Given the description of an element on the screen output the (x, y) to click on. 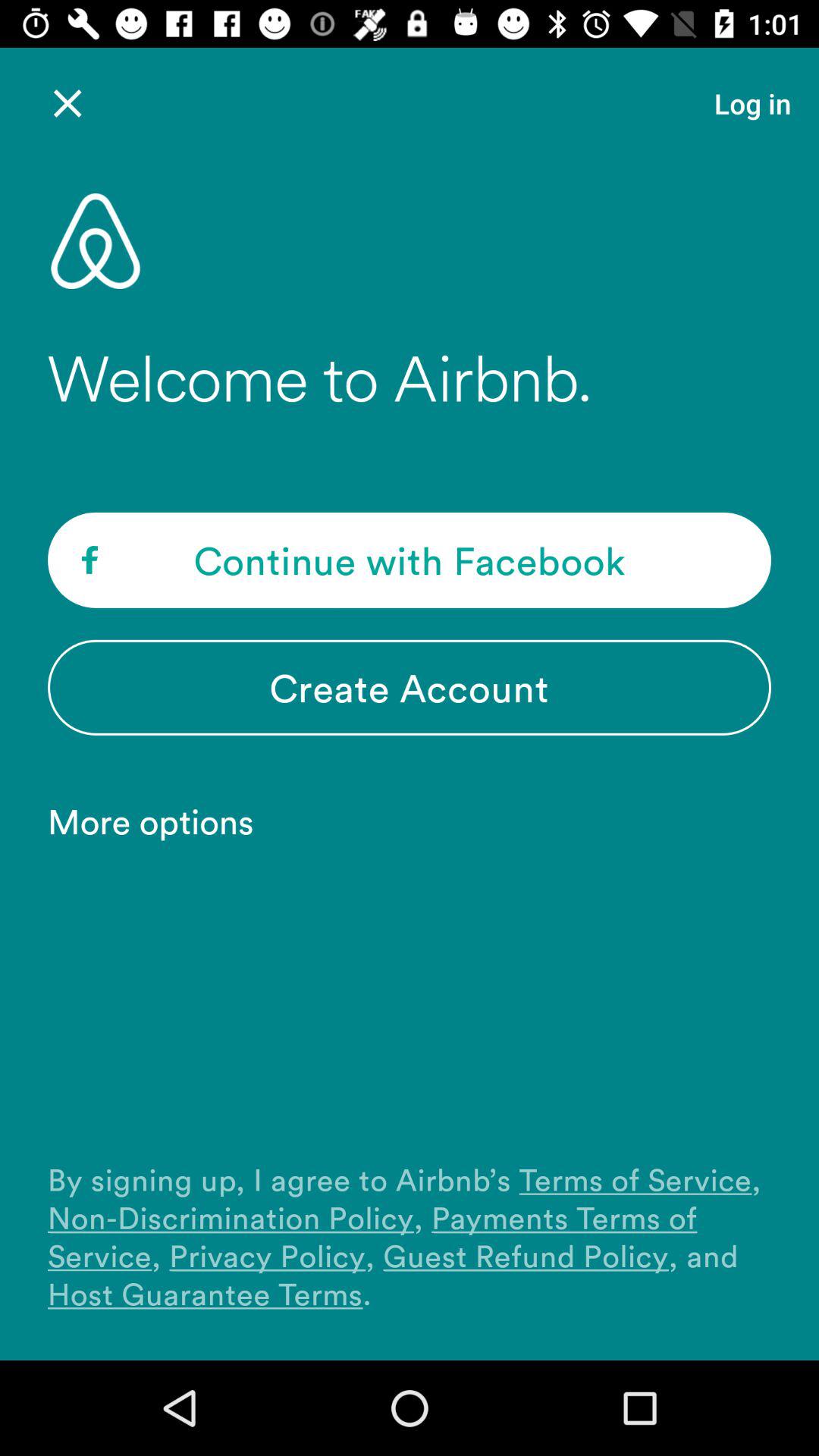
choose the item below continue with facebook item (409, 687)
